Given the description of an element on the screen output the (x, y) to click on. 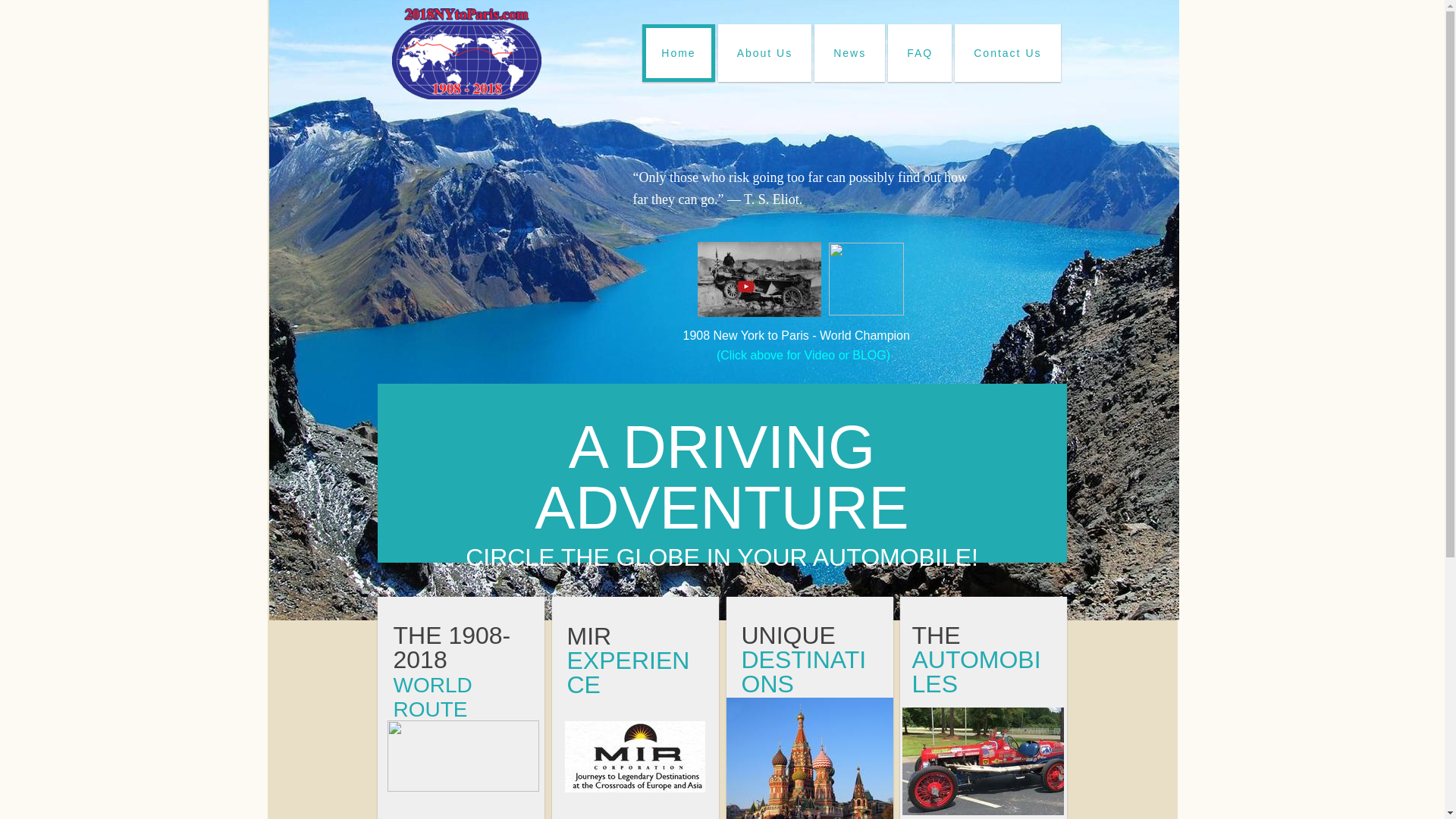
Contact Us Element type: text (1007, 52)
News Element type: text (849, 52)
Home Element type: text (678, 52)
About Us Element type: text (765, 52)
FAQ Element type: text (919, 52)
